Given the description of an element on the screen output the (x, y) to click on. 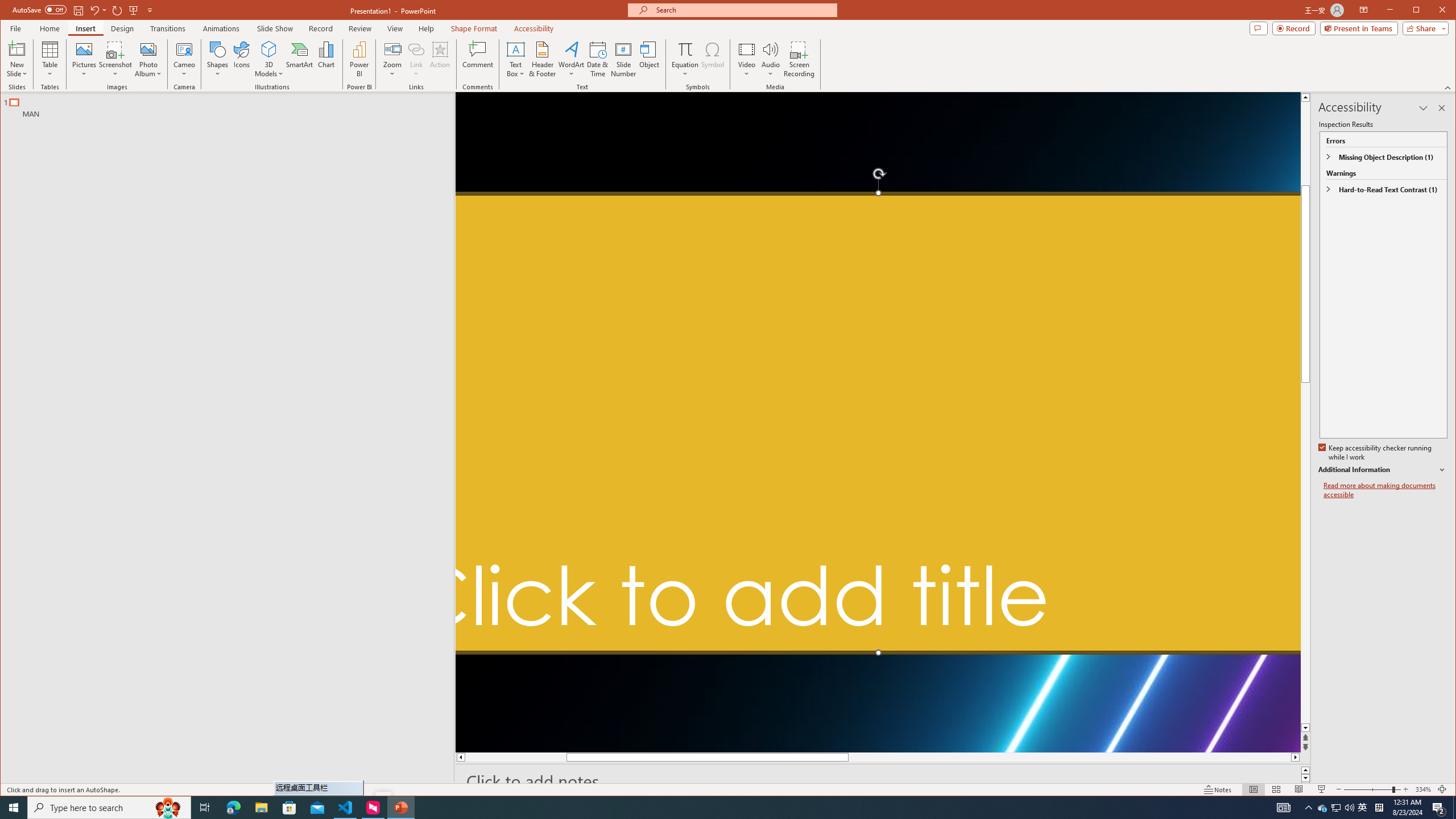
Video (746, 59)
Slide Number (623, 59)
